Given the description of an element on the screen output the (x, y) to click on. 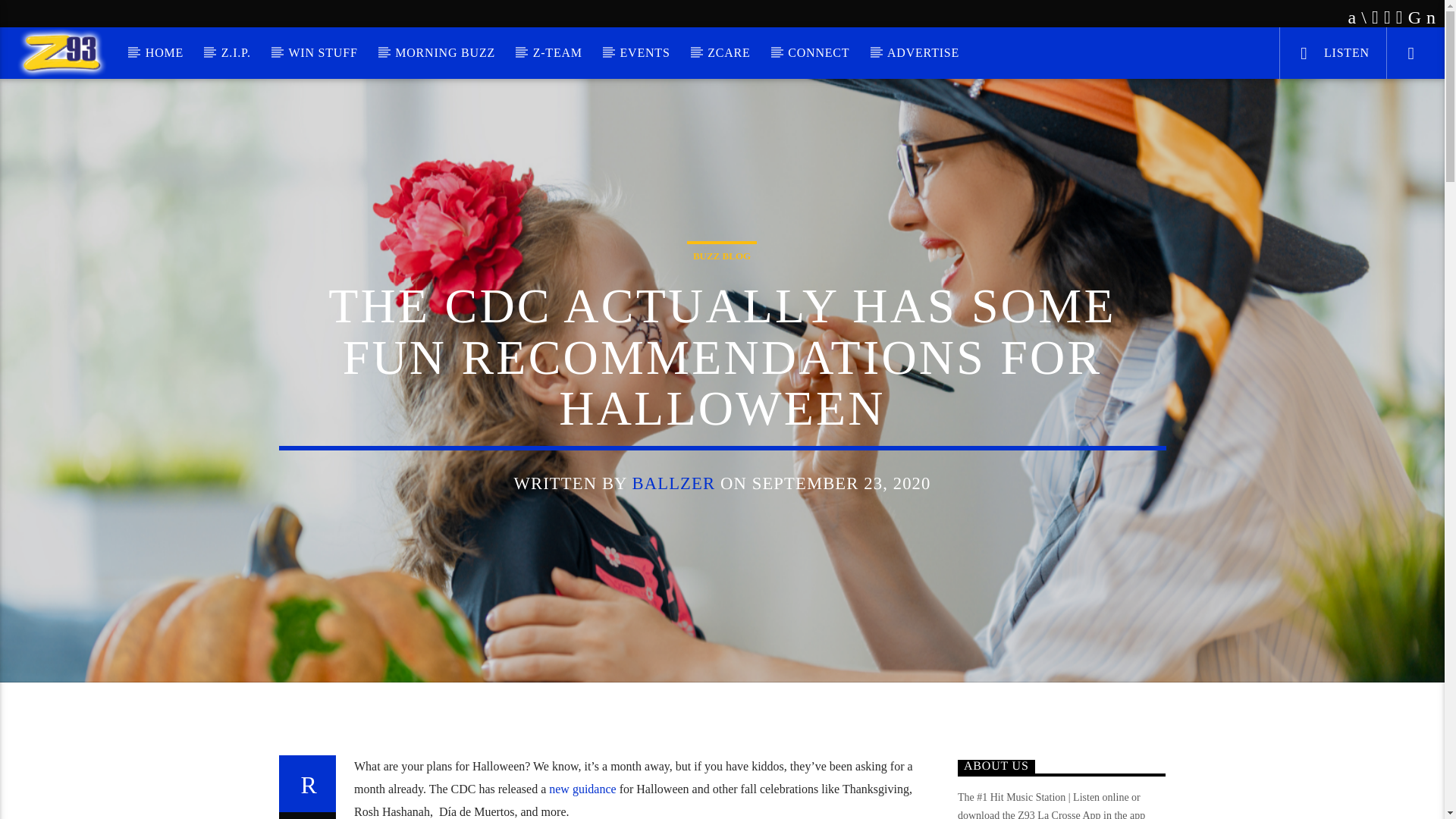
Z-TEAM (556, 52)
ZCARE (728, 52)
Z.I.P. (235, 52)
MORNING BUZZ (445, 52)
CONNECT (818, 52)
Posts by Ballzer (673, 483)
ADVERTISE (923, 52)
WIN STUFF (322, 52)
LISTEN (1332, 52)
HOME (164, 52)
EVENTS (644, 52)
